Given the description of an element on the screen output the (x, y) to click on. 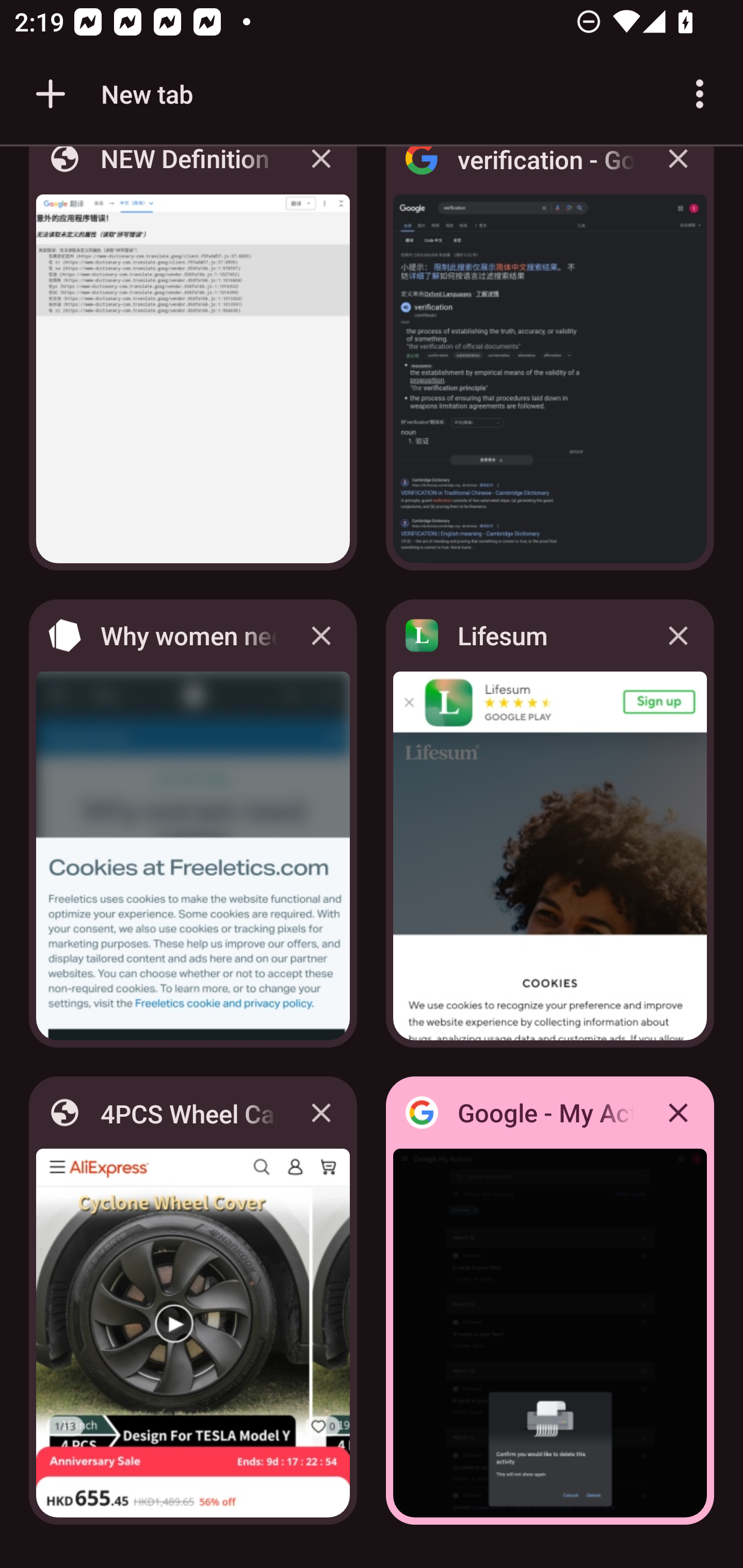
New tab (111, 93)
Customize and control Google Chrome (699, 93)
Close verification - Google 搜索 tab (677, 173)
Lifesum Lifesum, tab Close Lifesum tab (549, 822)
Close Why women need carbs tab (320, 635)
Close Lifesum tab (677, 635)
Close Google - My Activity tab (677, 1112)
